Given the description of an element on the screen output the (x, y) to click on. 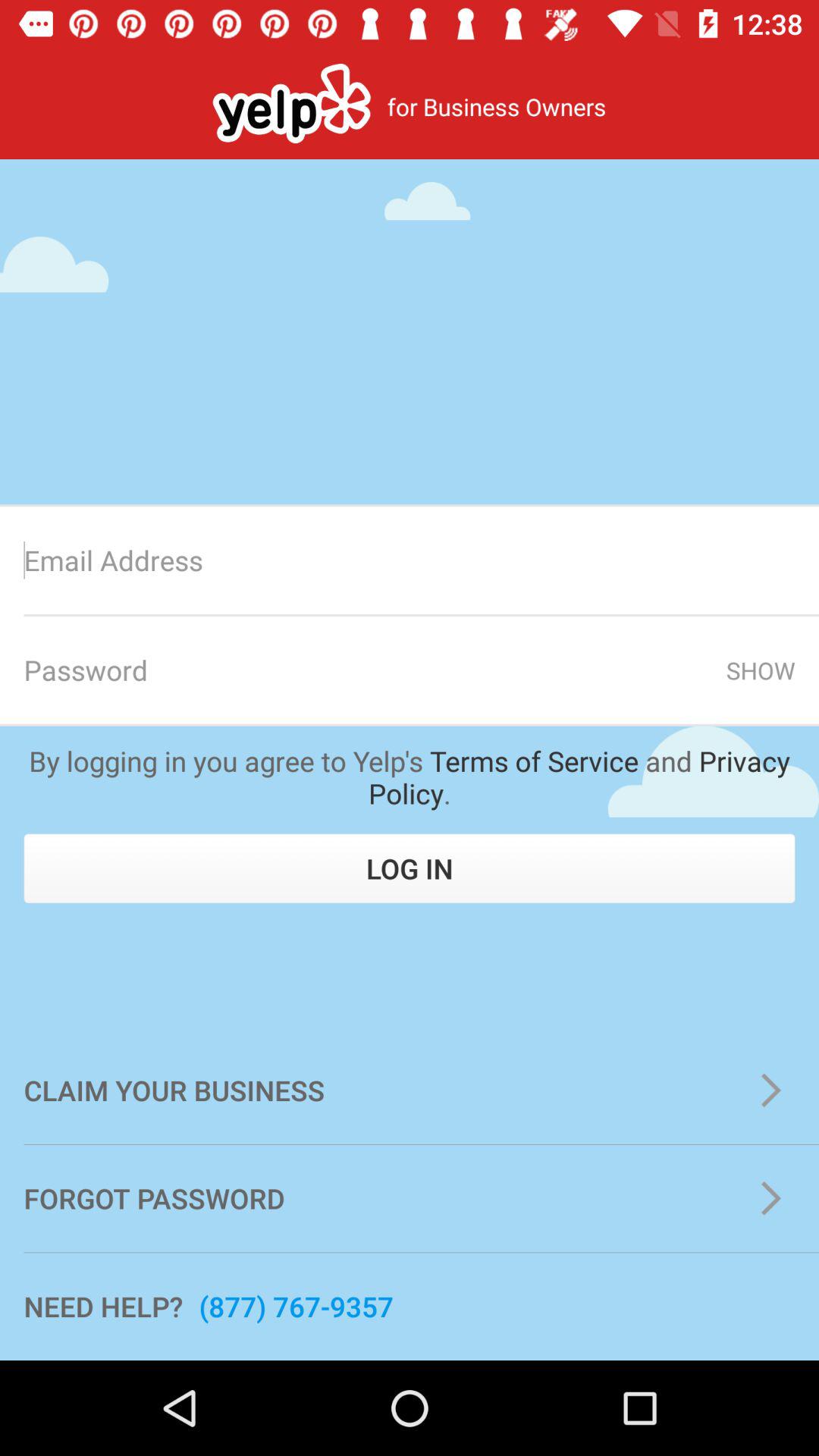
scroll to show (760, 670)
